Given the description of an element on the screen output the (x, y) to click on. 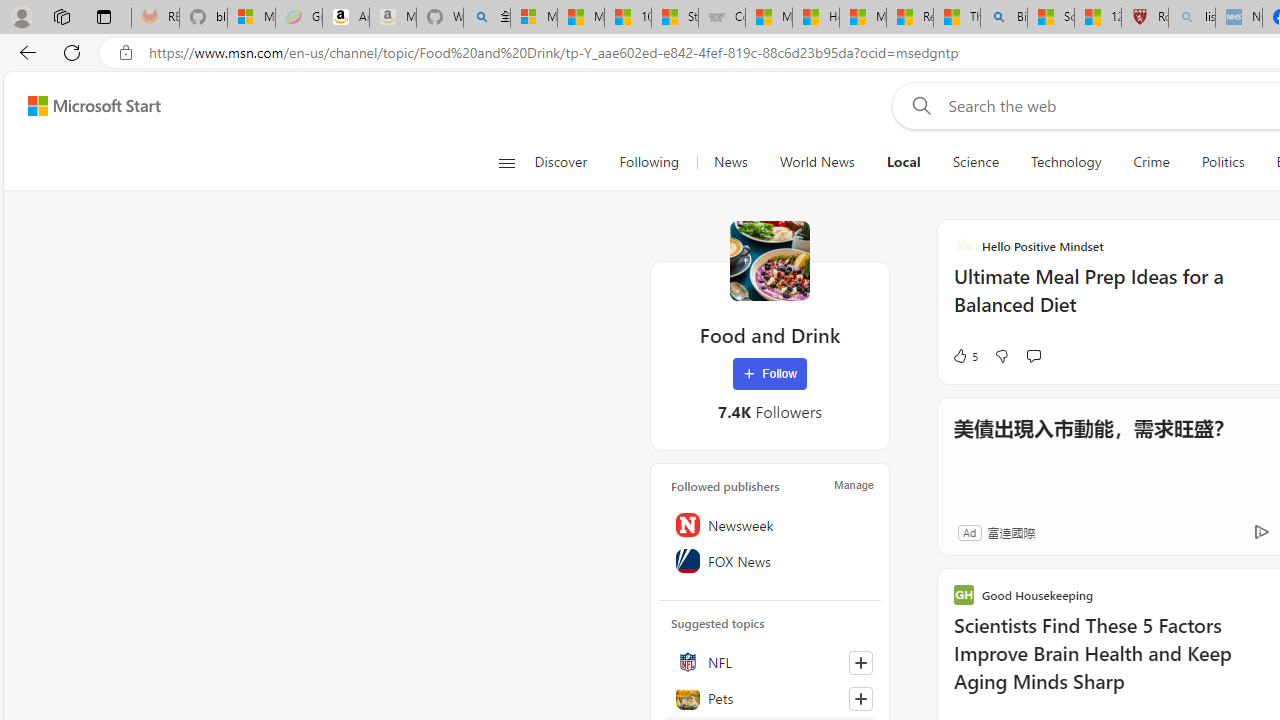
Politics (1222, 162)
NFL (770, 661)
World News (817, 162)
Follow (769, 373)
Start the conversation (1033, 355)
Politics (1222, 162)
Science (975, 162)
Science (975, 162)
